Given the description of an element on the screen output the (x, y) to click on. 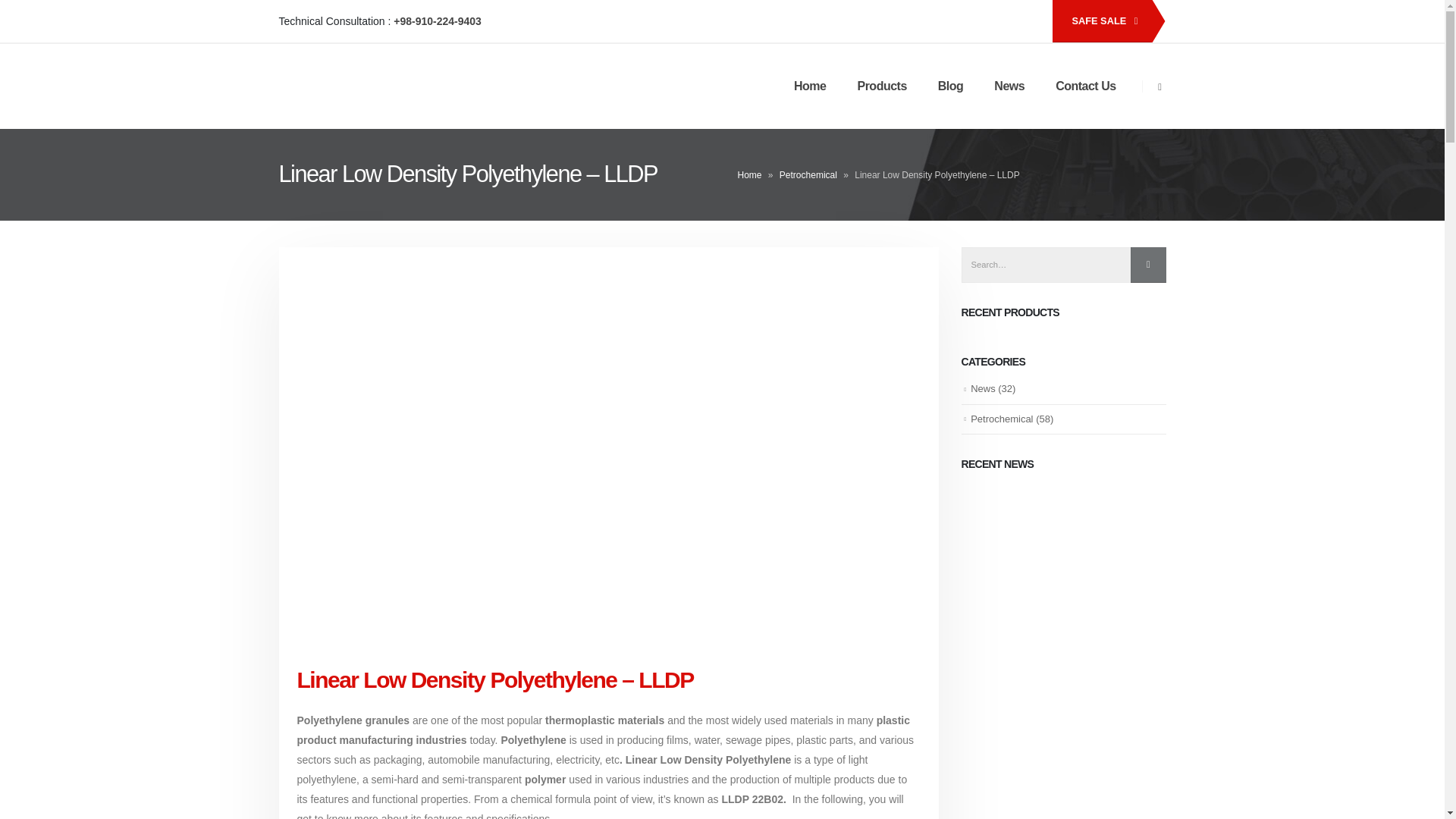
SAFE SALE (1101, 21)
Petrochemical (807, 174)
Home (748, 174)
Products (881, 86)
News (1008, 86)
Home (809, 86)
Blog (950, 86)
Contact Us (1086, 86)
Iran Petroleum -  (338, 86)
Contact (1101, 21)
